Given the description of an element on the screen output the (x, y) to click on. 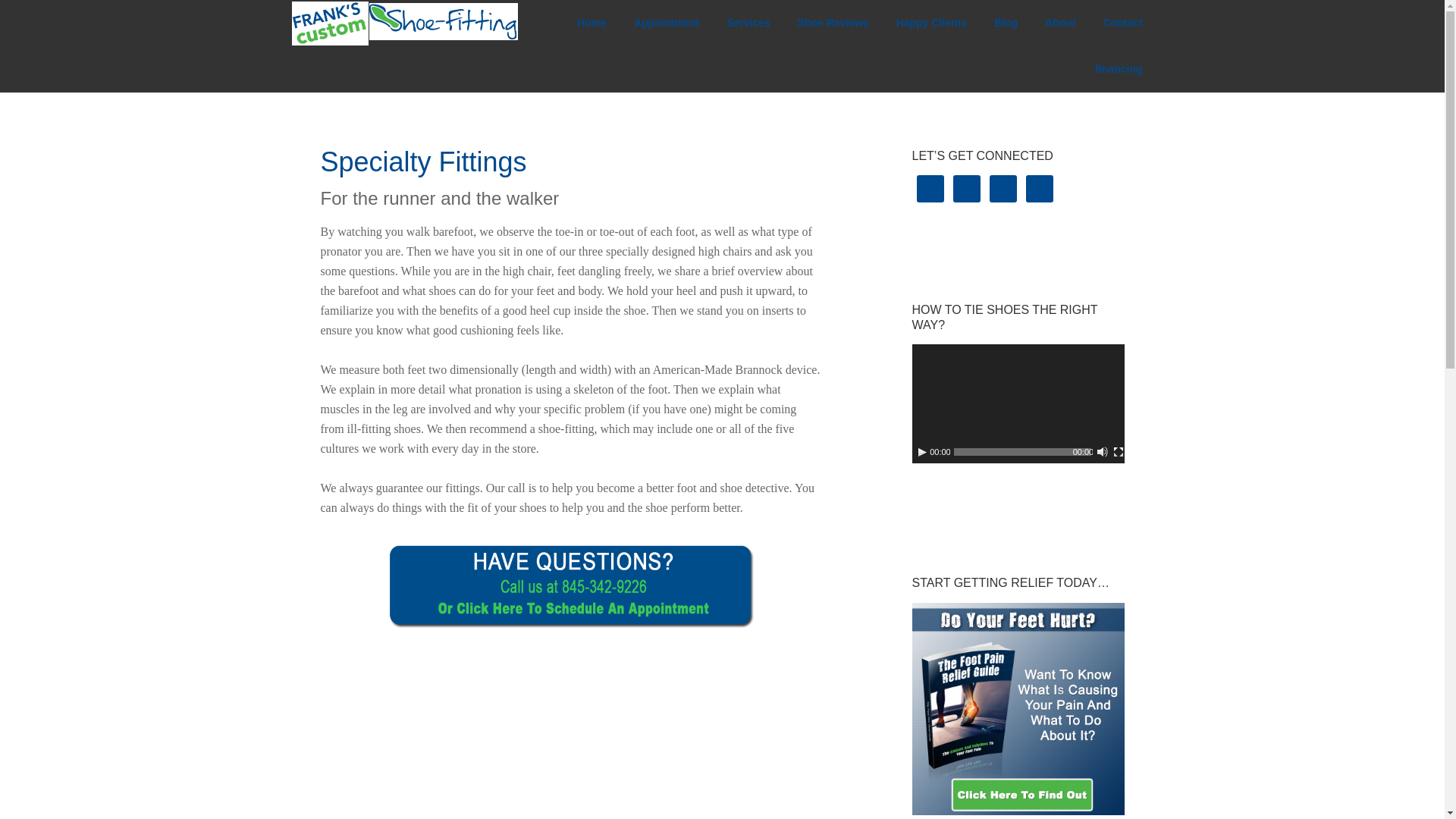
Blog (1005, 22)
financing (1118, 68)
Appointment (666, 22)
Home (591, 22)
About (1059, 22)
Contact (1122, 22)
Fullscreen (1118, 451)
Play (921, 451)
Shoe Reviews (833, 22)
Mute (1102, 451)
